Given the description of an element on the screen output the (x, y) to click on. 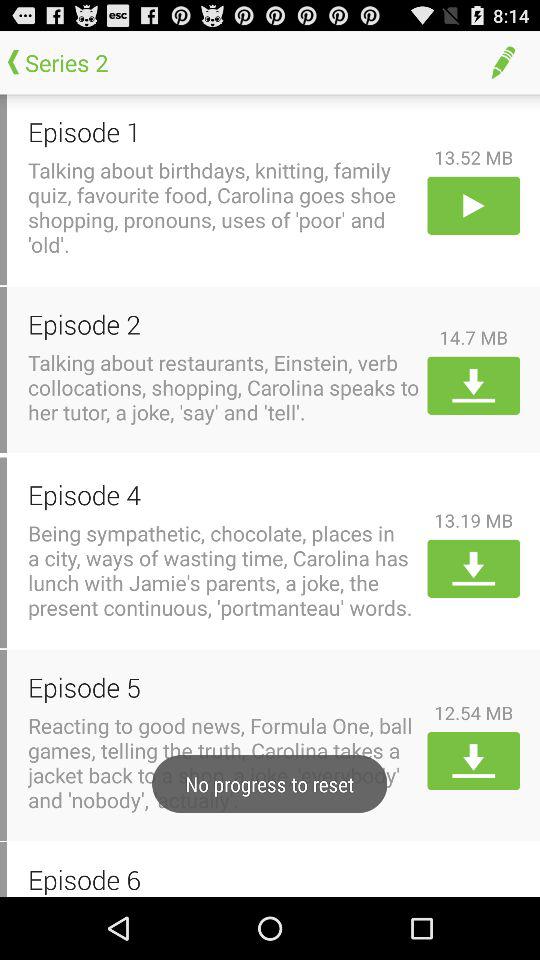
tap episode 1 app (224, 131)
